Given the description of an element on the screen output the (x, y) to click on. 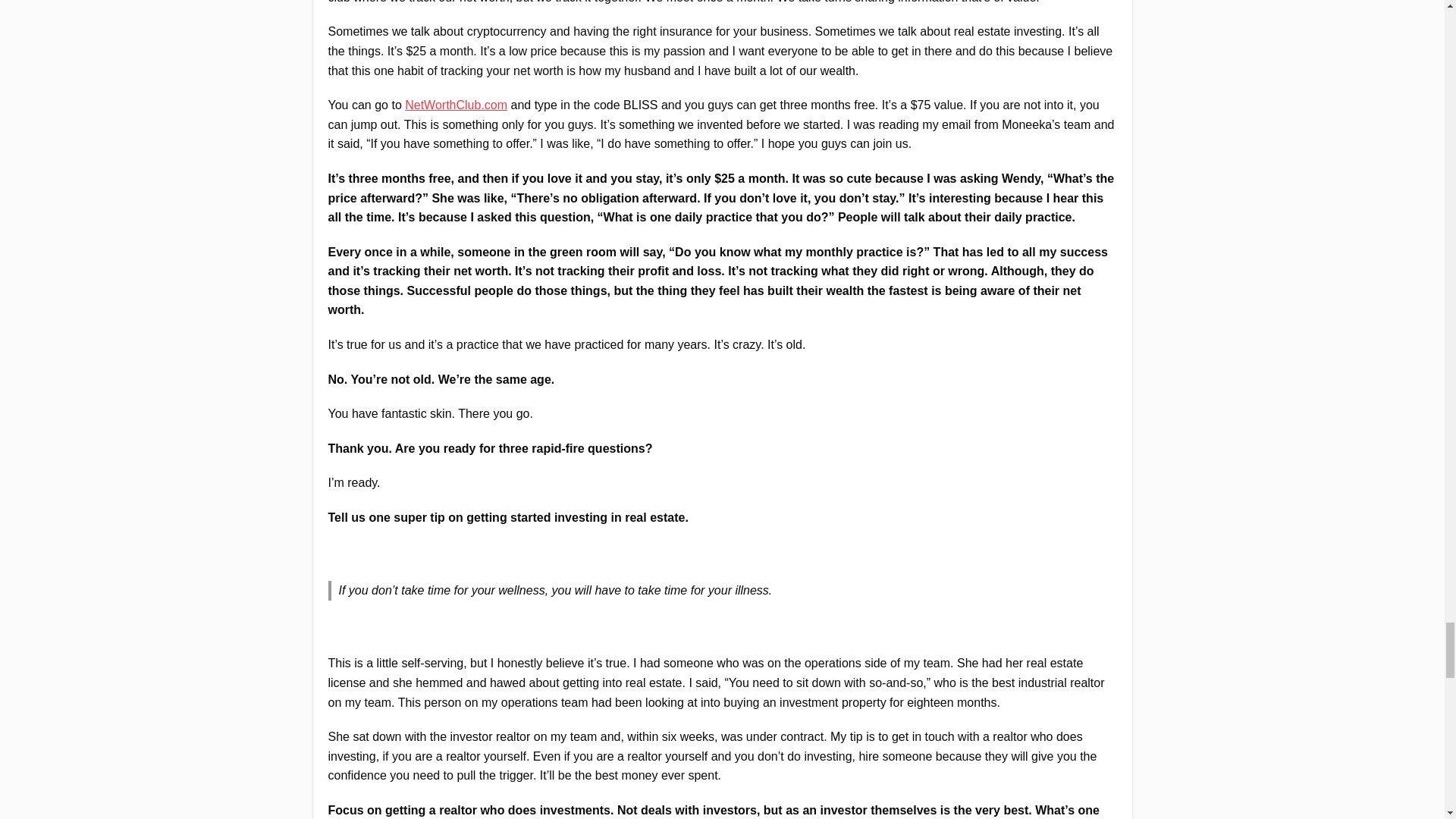
NetWorthClub.com (455, 104)
